Given the description of an element on the screen output the (x, y) to click on. 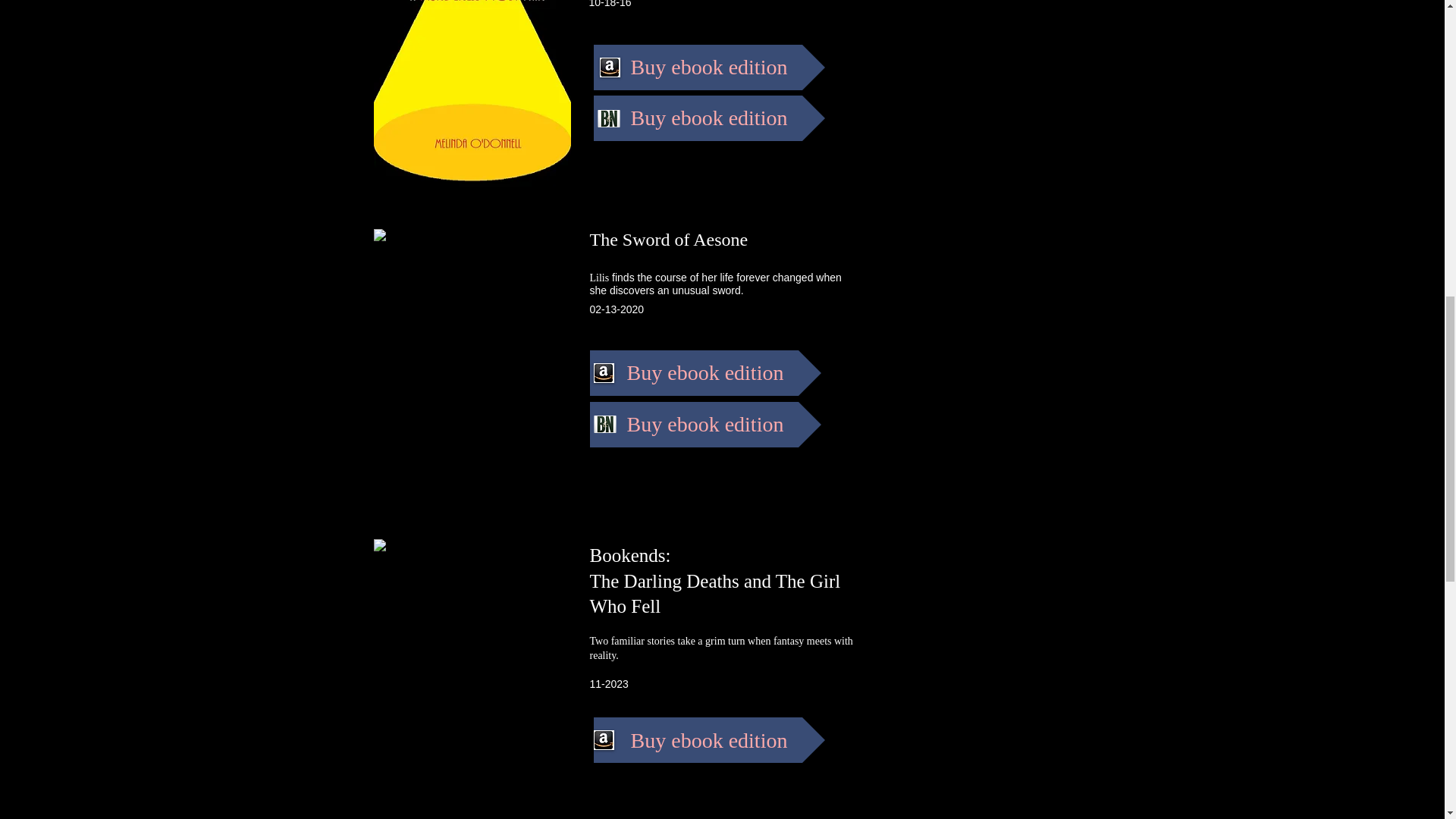
Buy ebook edition (708, 67)
Buy ebook edition (708, 739)
Buy ebook edition (705, 372)
AMMF amazon.jpg (471, 93)
Buy ebook edition (705, 424)
Buy ebook edition (708, 117)
